Given the description of an element on the screen output the (x, y) to click on. 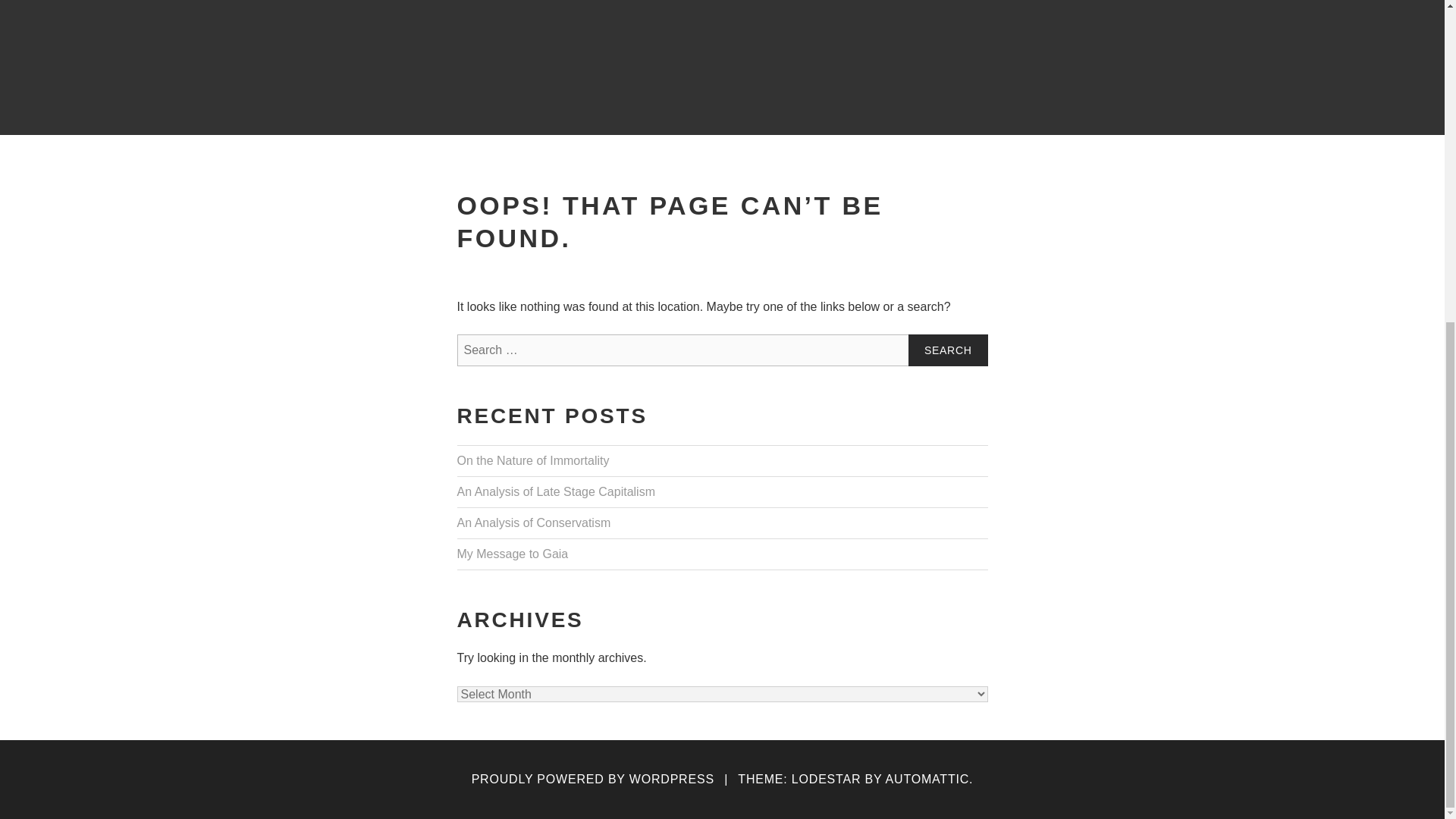
Search (948, 350)
Search (948, 350)
